Given the description of an element on the screen output the (x, y) to click on. 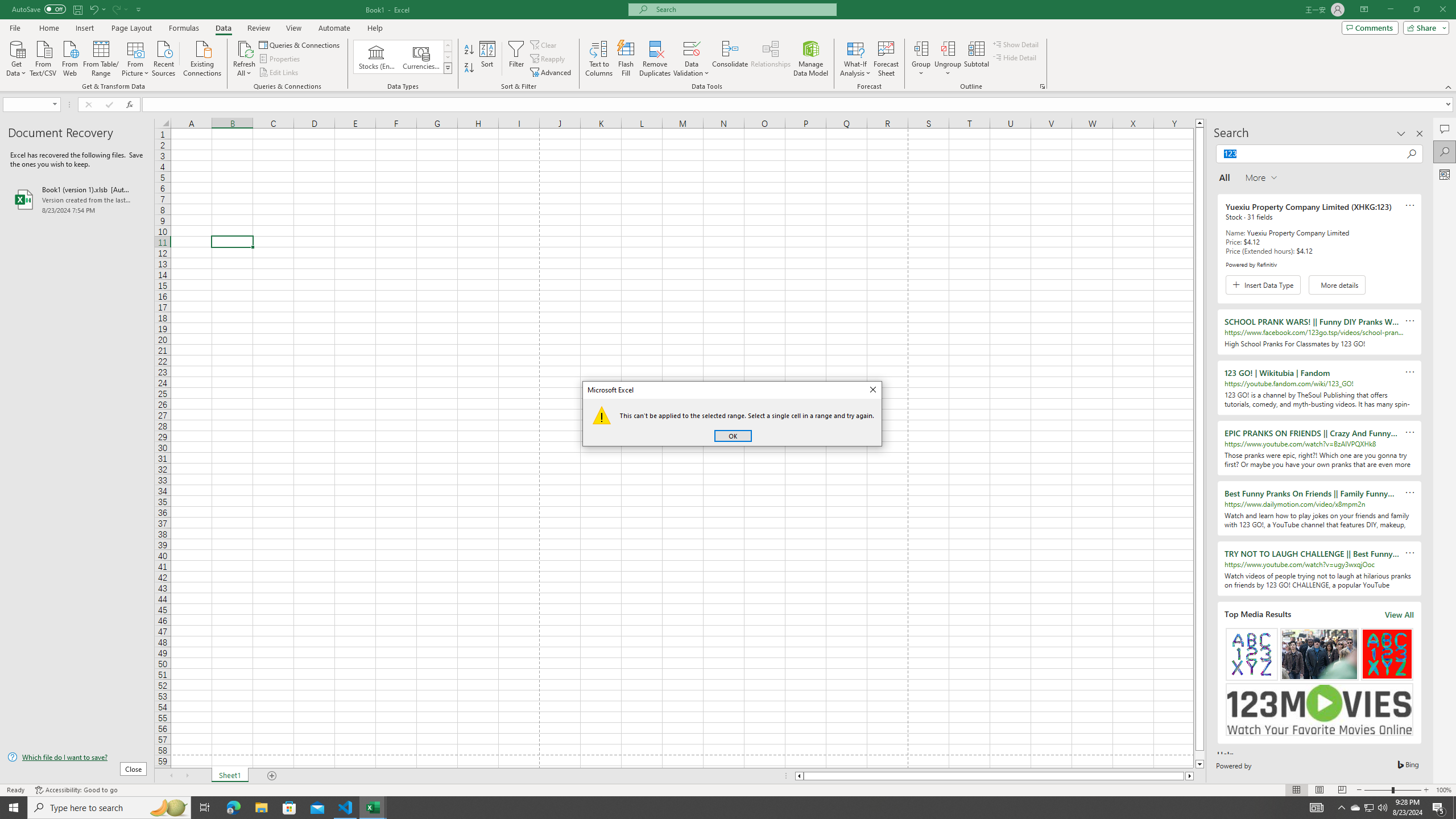
Show desktop (1454, 807)
Zoom Out (1377, 790)
Data (223, 28)
Line up (1199, 122)
Row Down (448, 56)
Open (54, 104)
Undo (96, 9)
Help (374, 28)
Currencies (English) (420, 56)
Minimize (1390, 9)
Filter (515, 58)
Class: Static (601, 415)
Reapply (548, 58)
Data Types (448, 67)
